Given the description of an element on the screen output the (x, y) to click on. 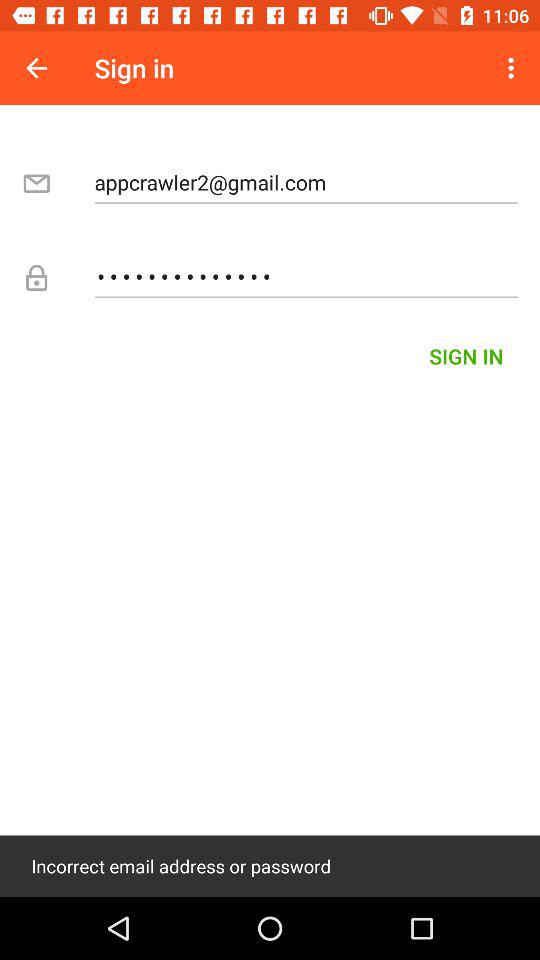
open the appcrawler3116 (306, 276)
